Given the description of an element on the screen output the (x, y) to click on. 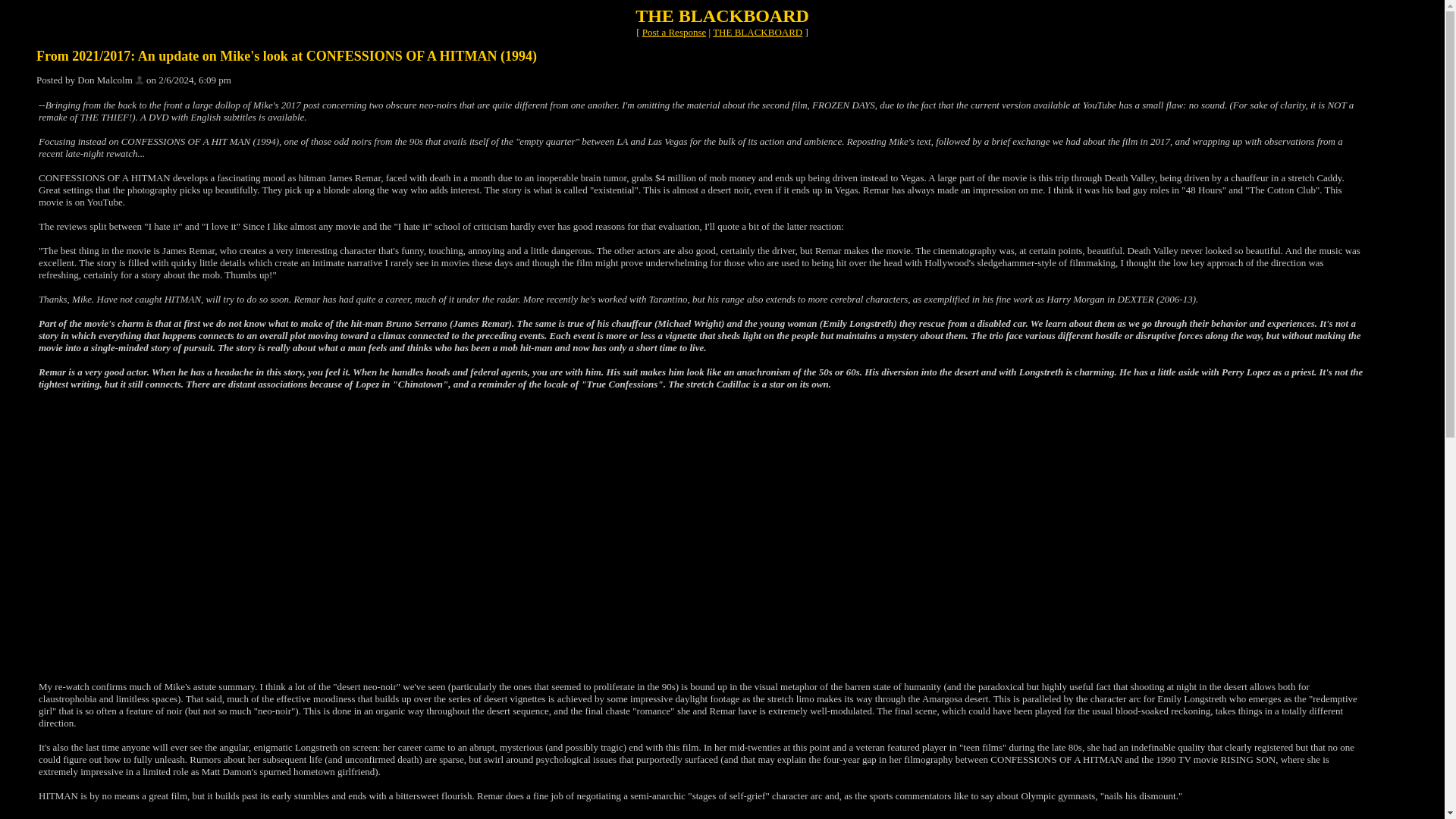
Post a Response (674, 31)
THE BLACKBOARD (757, 31)
